Given the description of an element on the screen output the (x, y) to click on. 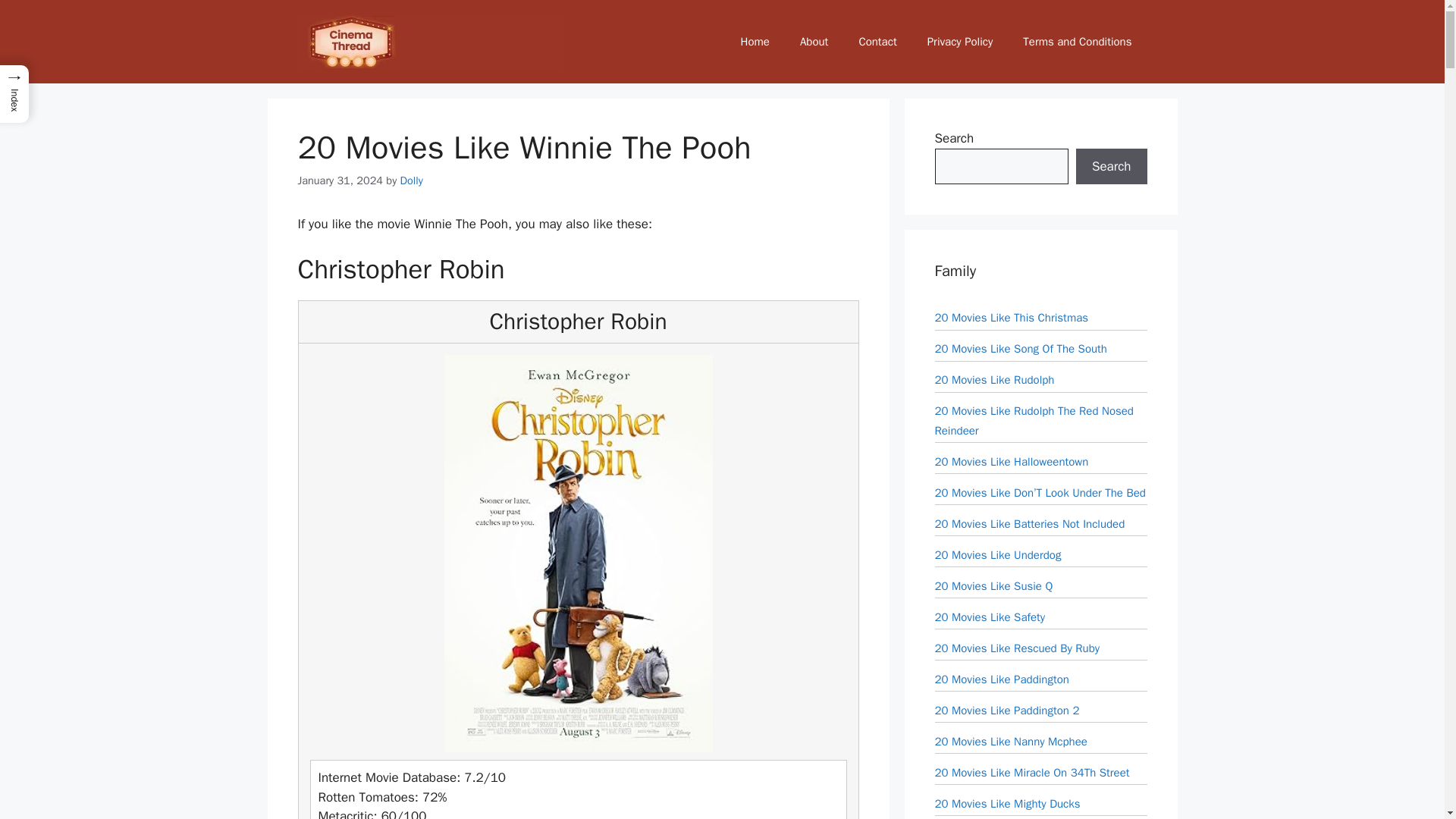
Terms and Conditions (1077, 41)
Privacy Policy (960, 41)
About (813, 41)
View all posts by Dolly (411, 180)
Home (754, 41)
Dolly (411, 180)
Contact (877, 41)
